Given the description of an element on the screen output the (x, y) to click on. 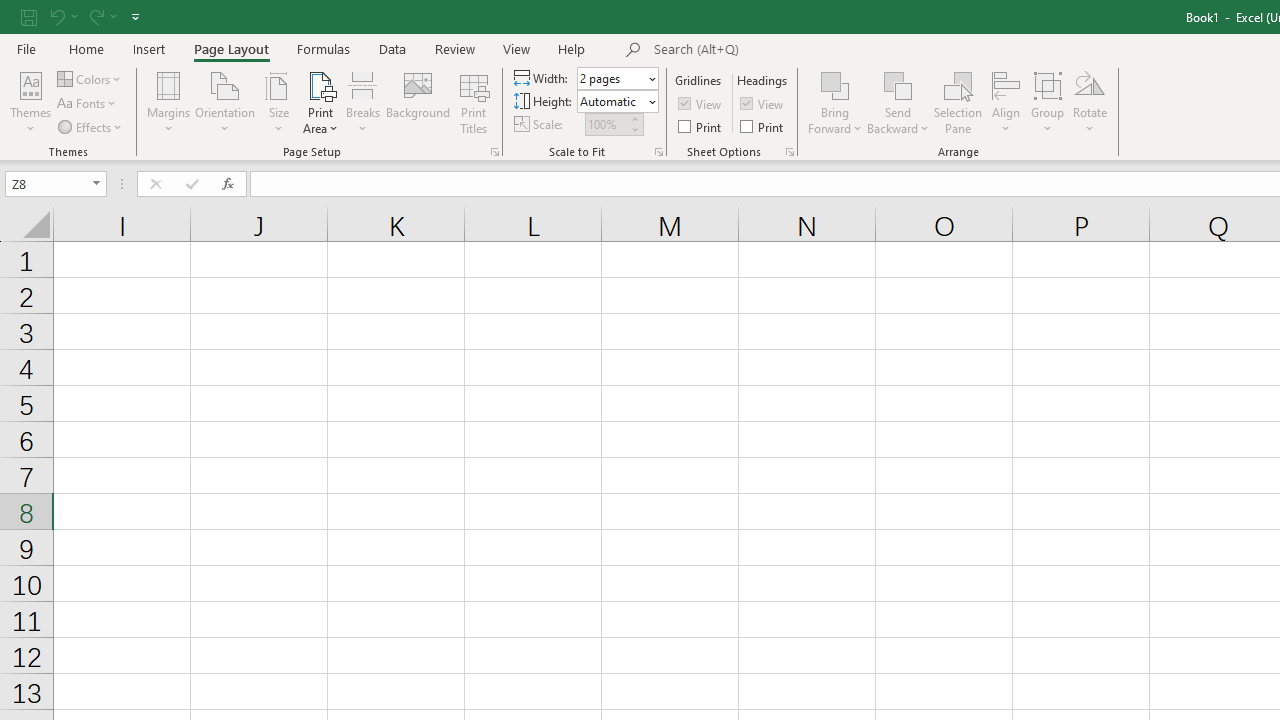
Send Backward (898, 84)
Bring Forward (835, 84)
Scale (605, 124)
Quick Access Toolbar (82, 16)
Data (392, 48)
Height (618, 101)
Page Setup (658, 151)
Colors (90, 78)
More (633, 118)
Rotate (1089, 102)
Width (611, 78)
Align (1005, 102)
Home (86, 48)
Print Titles (474, 102)
